Given the description of an element on the screen output the (x, y) to click on. 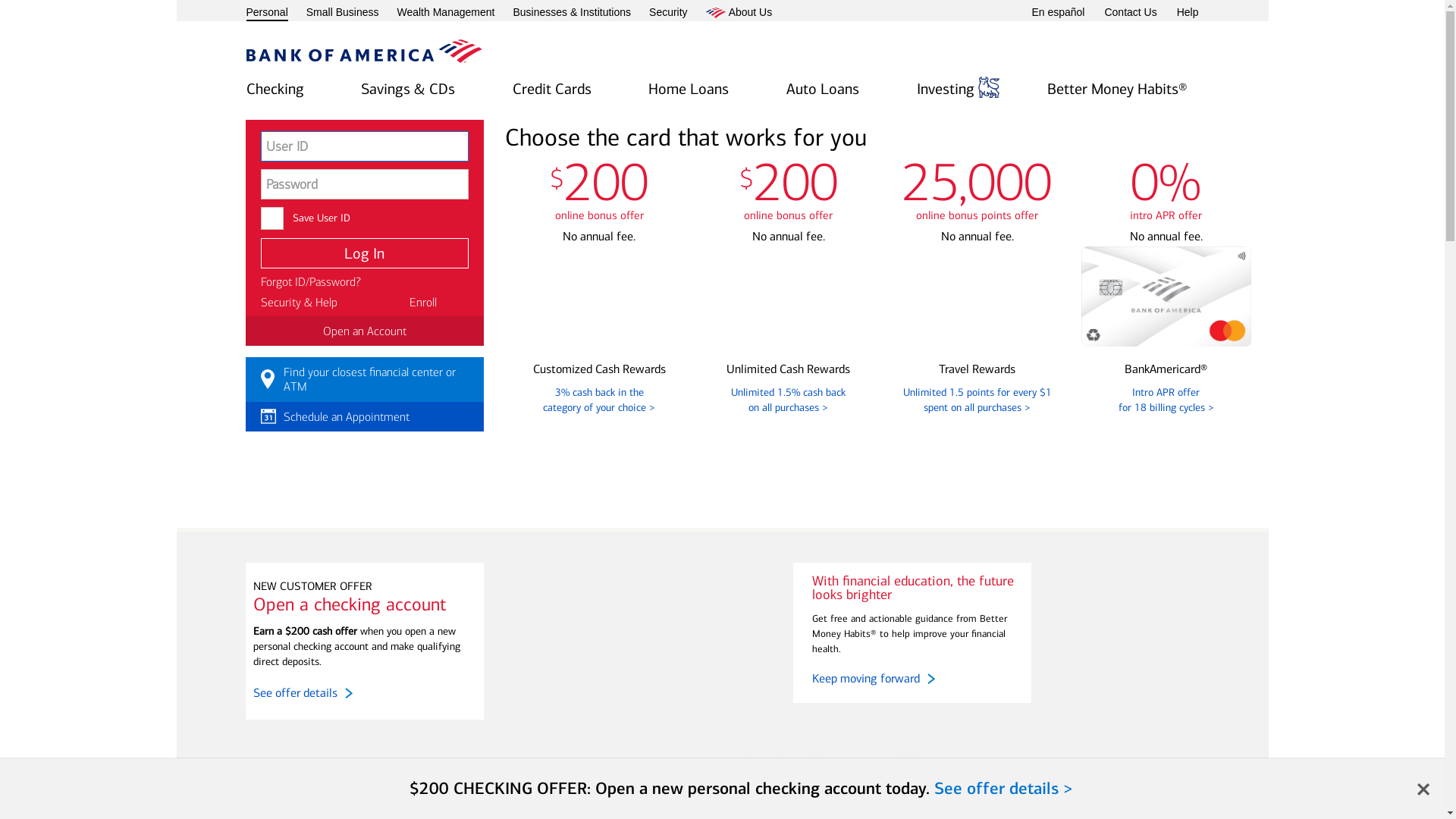
Log In Element type: text (364, 253)
Wealth Management Element type: text (445, 12)
Open
Credit Cards
Menu
Collapsed Element type: text (551, 90)
Open
Home Loans
Menu
Collapsed Element type: text (688, 90)
Forgot ID/Password? Element type: text (310, 281)
Open
Checking
Menu
Collapsed Element type: text (274, 90)
Help Element type: text (1187, 12)
About Us Element type: text (739, 12)
Open
Savings & CDs
Menu
Collapsed Element type: text (407, 90)
Security Element type: text (668, 12)
Open an Account Element type: text (364, 330)
Enroll Element type: text (422, 301)
Contact Us Element type: text (1130, 12)
Small Business Element type: text (342, 12)
Schedule an Appointment Element type: text (364, 416)
Open
Auto Loans
Menu
Collapsed Element type: text (822, 90)
Personal
Selected Element type: text (266, 13)
Businesses & Institutions Element type: text (571, 12)
Security & Help
 layer Element type: text (298, 301)
Open
Investing
Menu
Collapsed Element type: text (958, 90)
Find your closest financial center or ATM Element type: text (364, 379)
